Given the description of an element on the screen output the (x, y) to click on. 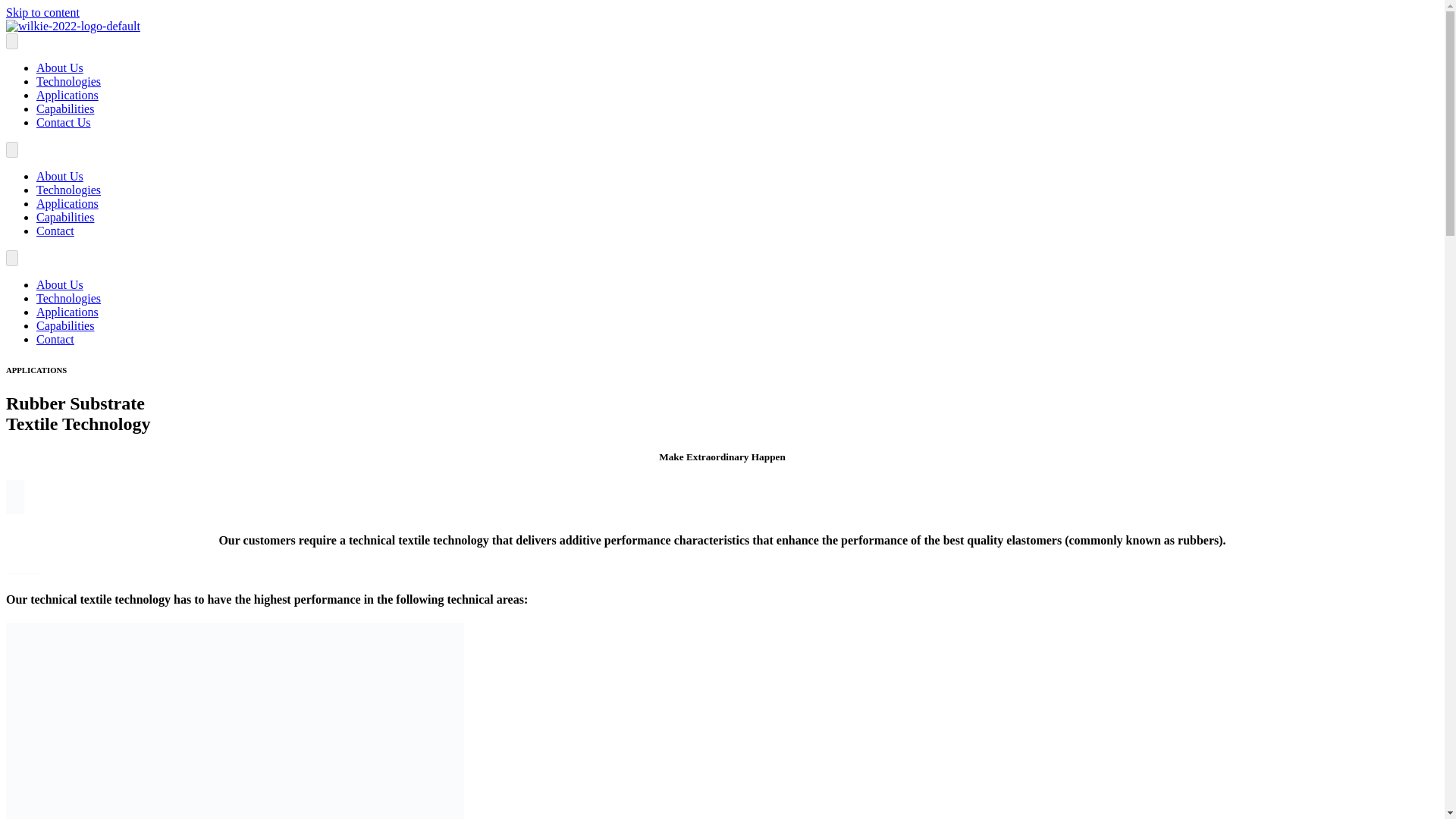
Technologies (68, 81)
Technologies (68, 297)
wilkie-2022-logo-default (72, 26)
Applications (67, 203)
About Us (59, 67)
About Us (59, 175)
Capabilities (65, 108)
Technologies (68, 189)
Contact (55, 338)
About Us (59, 284)
Capabilities (65, 216)
Applications (67, 311)
rubber (234, 720)
Capabilities (65, 325)
